Given the description of an element on the screen output the (x, y) to click on. 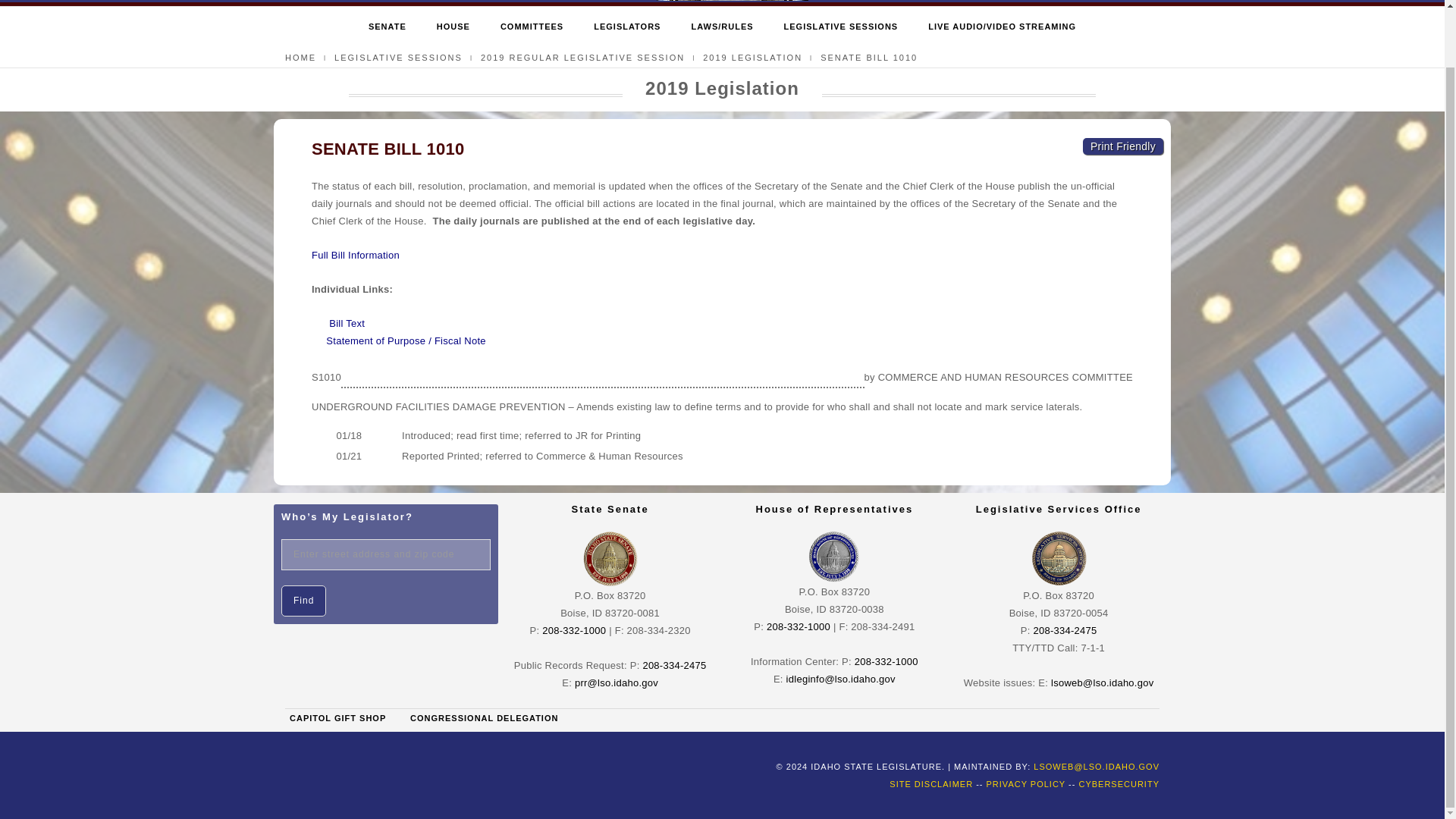
Browse to: Legislative Sessions (398, 57)
COMMITTEES (531, 27)
HOUSE (453, 27)
LEGISLATORS (627, 27)
Browse to: 2019 Regular Legislative Session (582, 57)
Find (303, 600)
Browse to: Home (300, 57)
Browse to: 2019 Legislation (752, 57)
SENATE (387, 27)
